Given the description of an element on the screen output the (x, y) to click on. 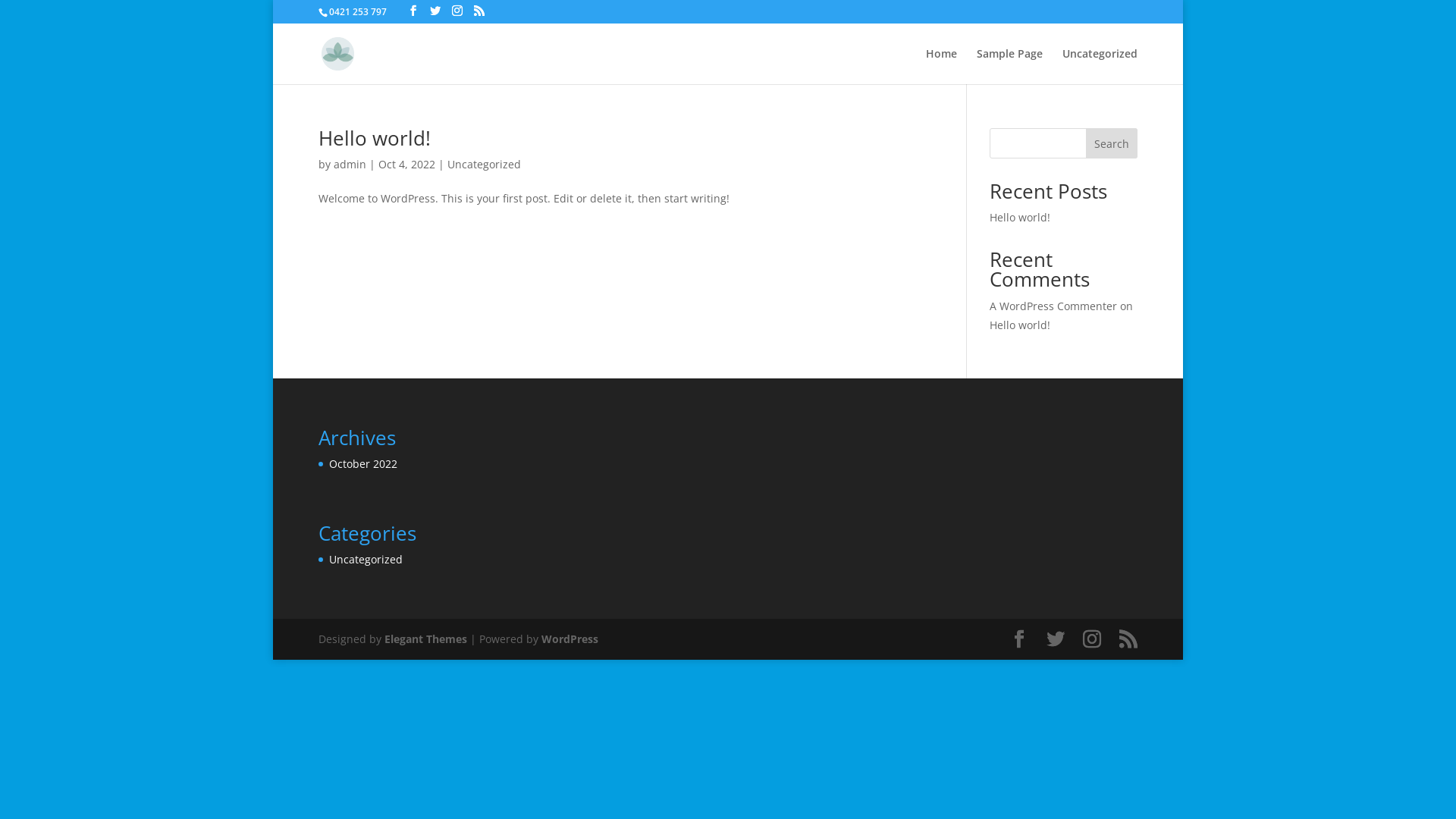
October 2022 Element type: text (363, 463)
Uncategorized Element type: text (365, 559)
WordPress Element type: text (569, 638)
Hello world! Element type: text (374, 137)
Search Element type: text (1111, 143)
Uncategorized Element type: text (1099, 66)
Sample Page Element type: text (1009, 66)
Uncategorized Element type: text (483, 163)
Hello world! Element type: text (1019, 217)
admin Element type: text (349, 163)
A WordPress Commenter Element type: text (1053, 305)
Elegant Themes Element type: text (425, 638)
Hello world! Element type: text (1019, 324)
Home Element type: text (941, 66)
